Given the description of an element on the screen output the (x, y) to click on. 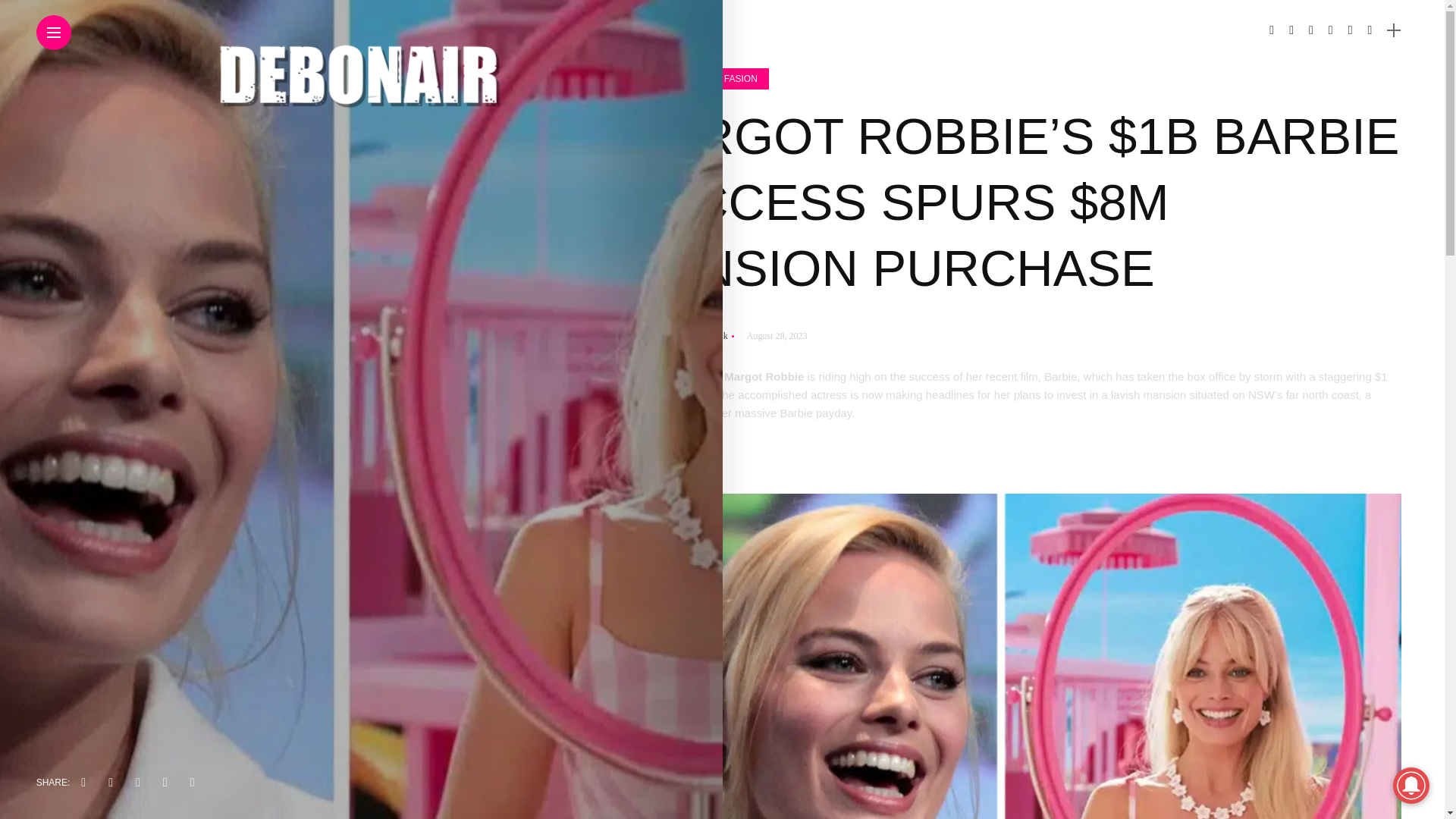
Posts by Editorial Desk (697, 335)
Editorial Desk (697, 335)
